Given the description of an element on the screen output the (x, y) to click on. 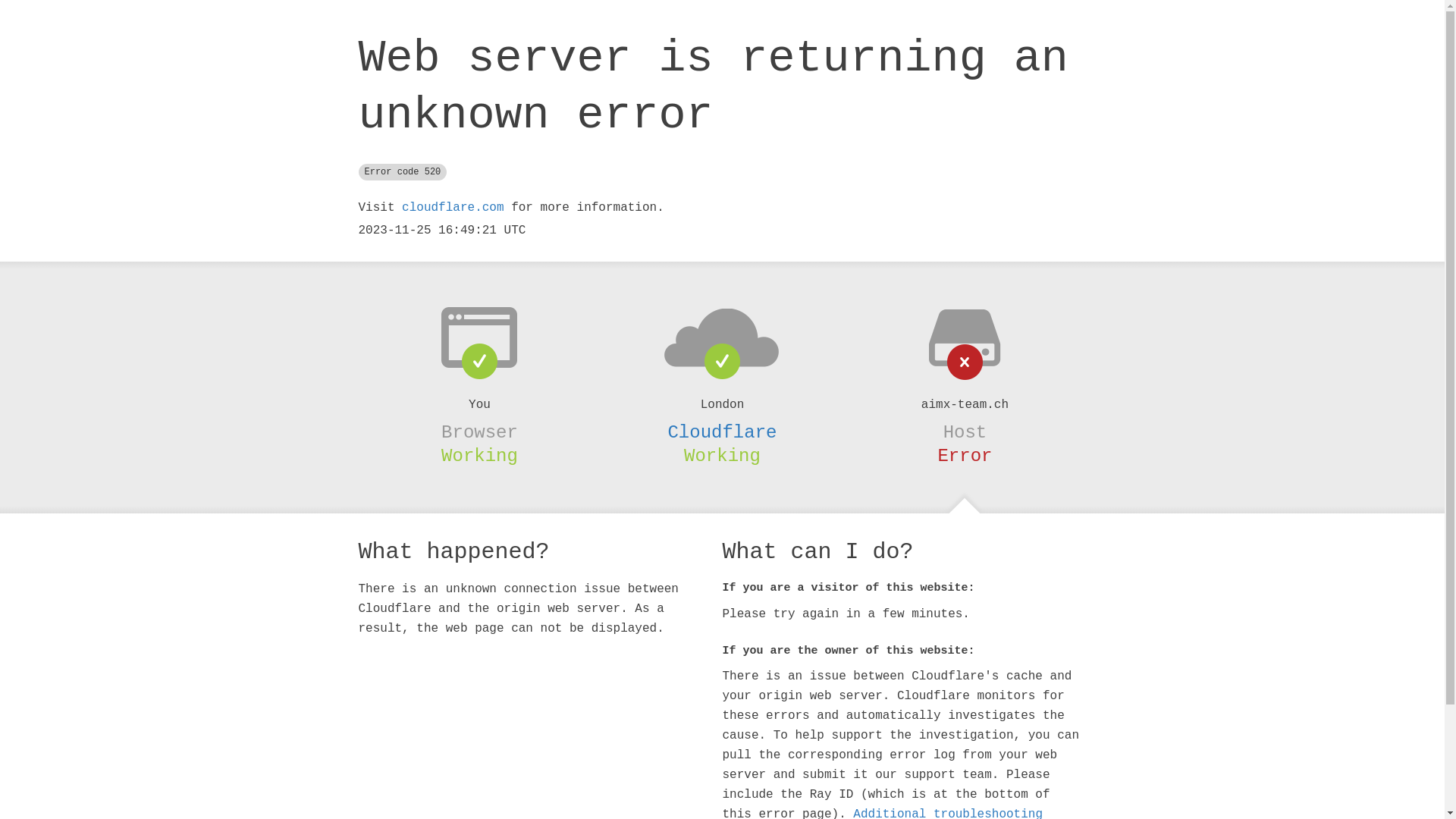
Cloudflare Element type: text (721, 432)
cloudflare.com Element type: text (452, 207)
